Given the description of an element on the screen output the (x, y) to click on. 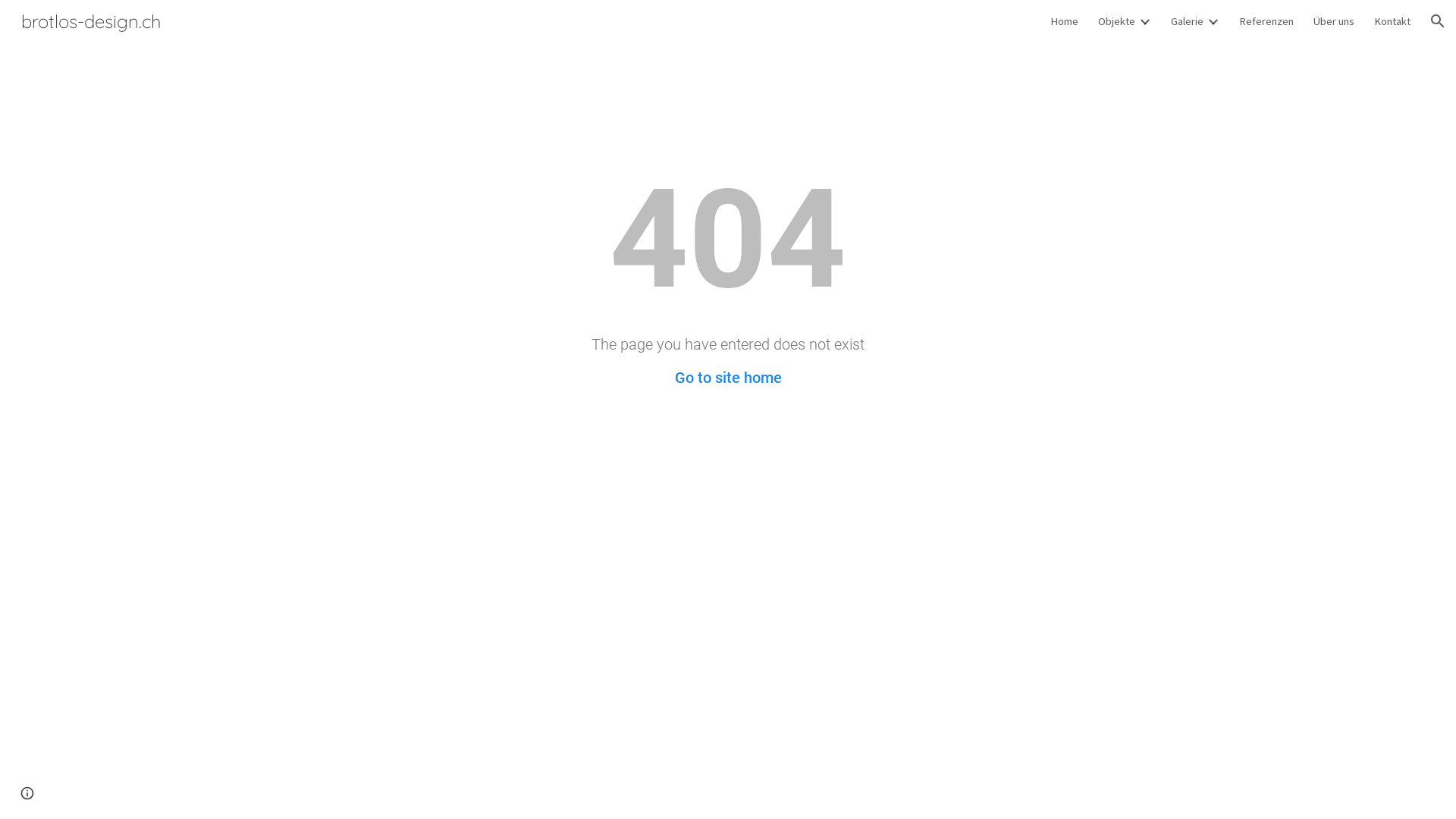
Go to site home Element type: text (727, 377)
Objekte Element type: text (1116, 21)
Expand/Collapse Element type: hover (1144, 21)
Expand/Collapse Element type: hover (1212, 21)
Referenzen Element type: text (1266, 21)
brotlos-design.ch Element type: text (90, 18)
Galerie Element type: text (1186, 21)
Home Element type: text (1064, 21)
Kontakt Element type: text (1392, 21)
